Given the description of an element on the screen output the (x, y) to click on. 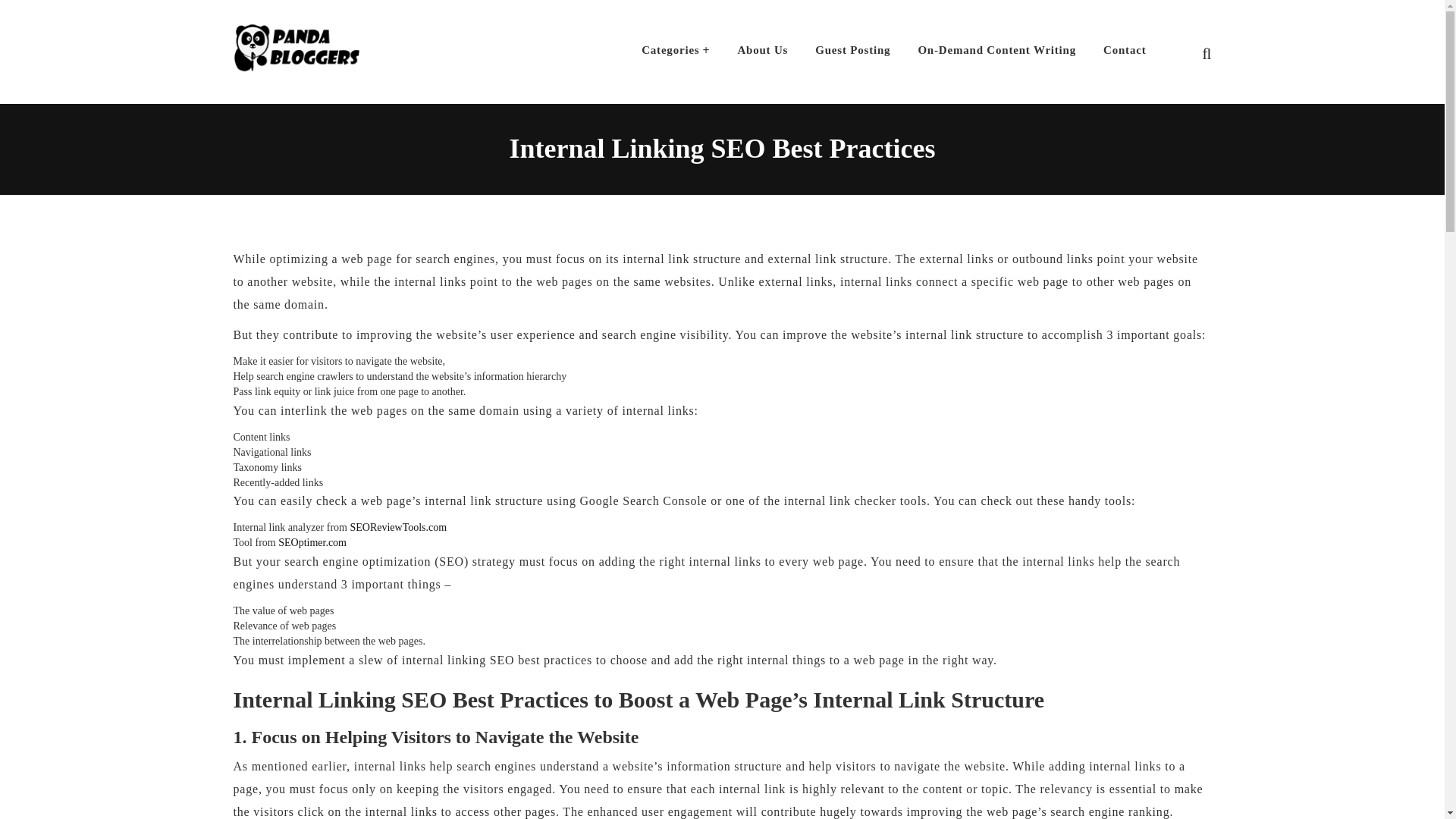
Contact (1123, 50)
Categories (675, 50)
SEOReviewTools.com (397, 527)
SEOptimer.com (312, 542)
About Us (762, 50)
Guest Posting (852, 50)
On-Demand Content Writing (996, 50)
